Given the description of an element on the screen output the (x, y) to click on. 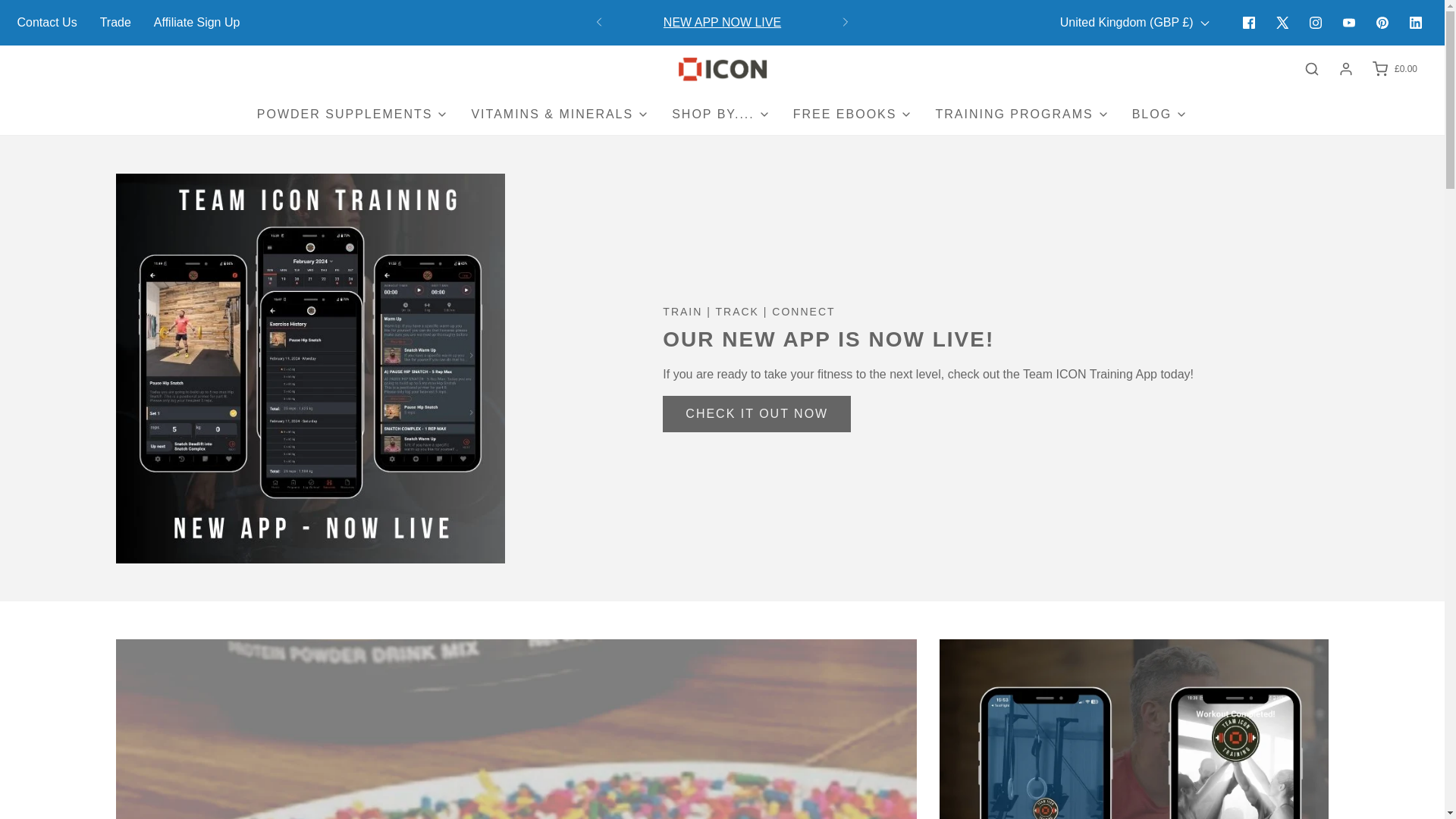
Log in (1345, 68)
Search (1311, 68)
Contact Us (46, 22)
Trade (115, 22)
Affiliate Sign Up (197, 22)
Cart (1394, 68)
NEW APP NOW LIVE (721, 33)
Team ICON Training App (721, 21)
